Given the description of an element on the screen output the (x, y) to click on. 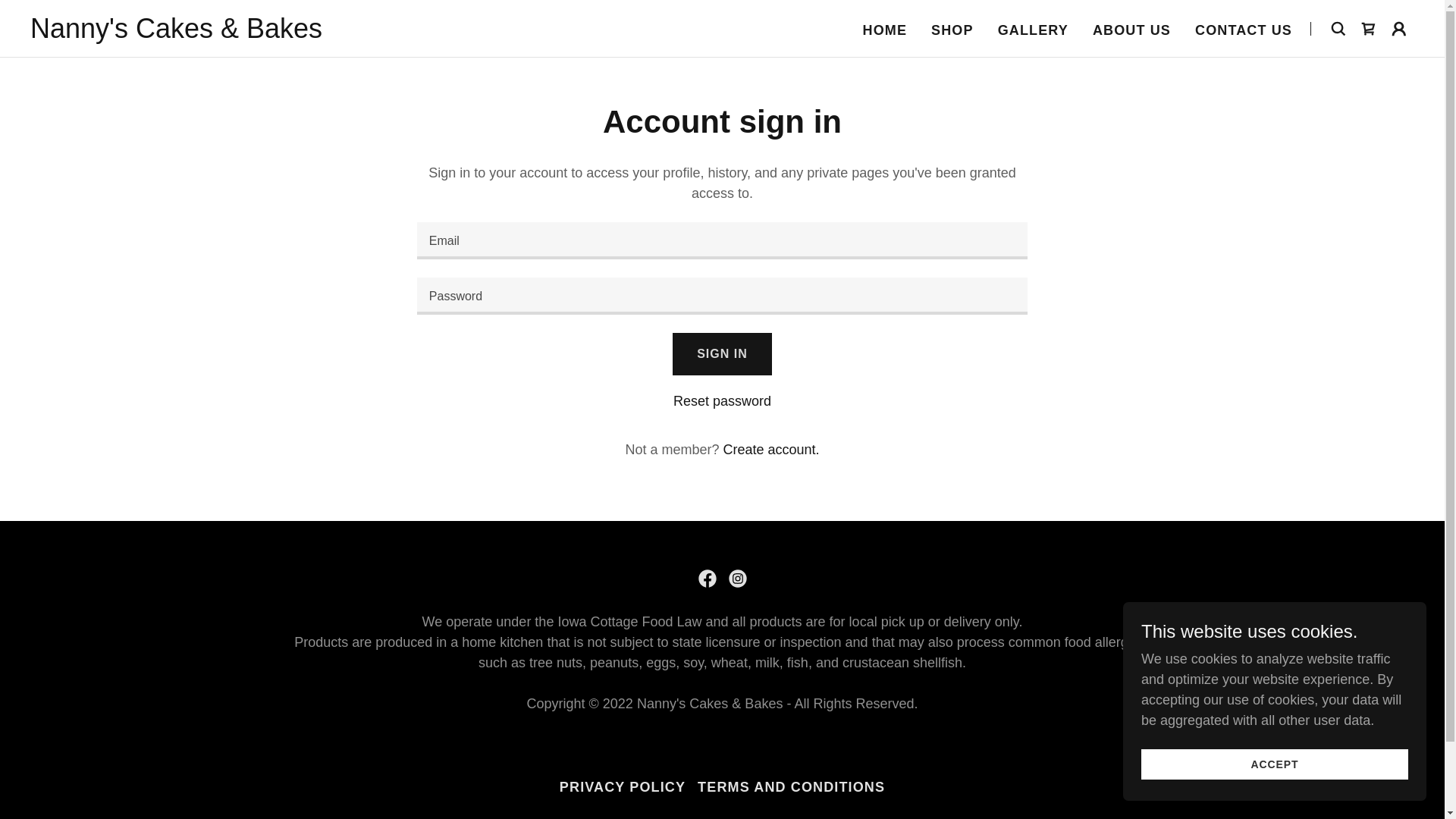
ABOUT US (1130, 30)
SHOP (952, 30)
GALLERY (1032, 30)
SIGN IN (721, 353)
Create account. (770, 449)
CONTACT US (1244, 30)
HOME (885, 30)
PRIVACY POLICY (622, 787)
Reset password (721, 400)
